Given the description of an element on the screen output the (x, y) to click on. 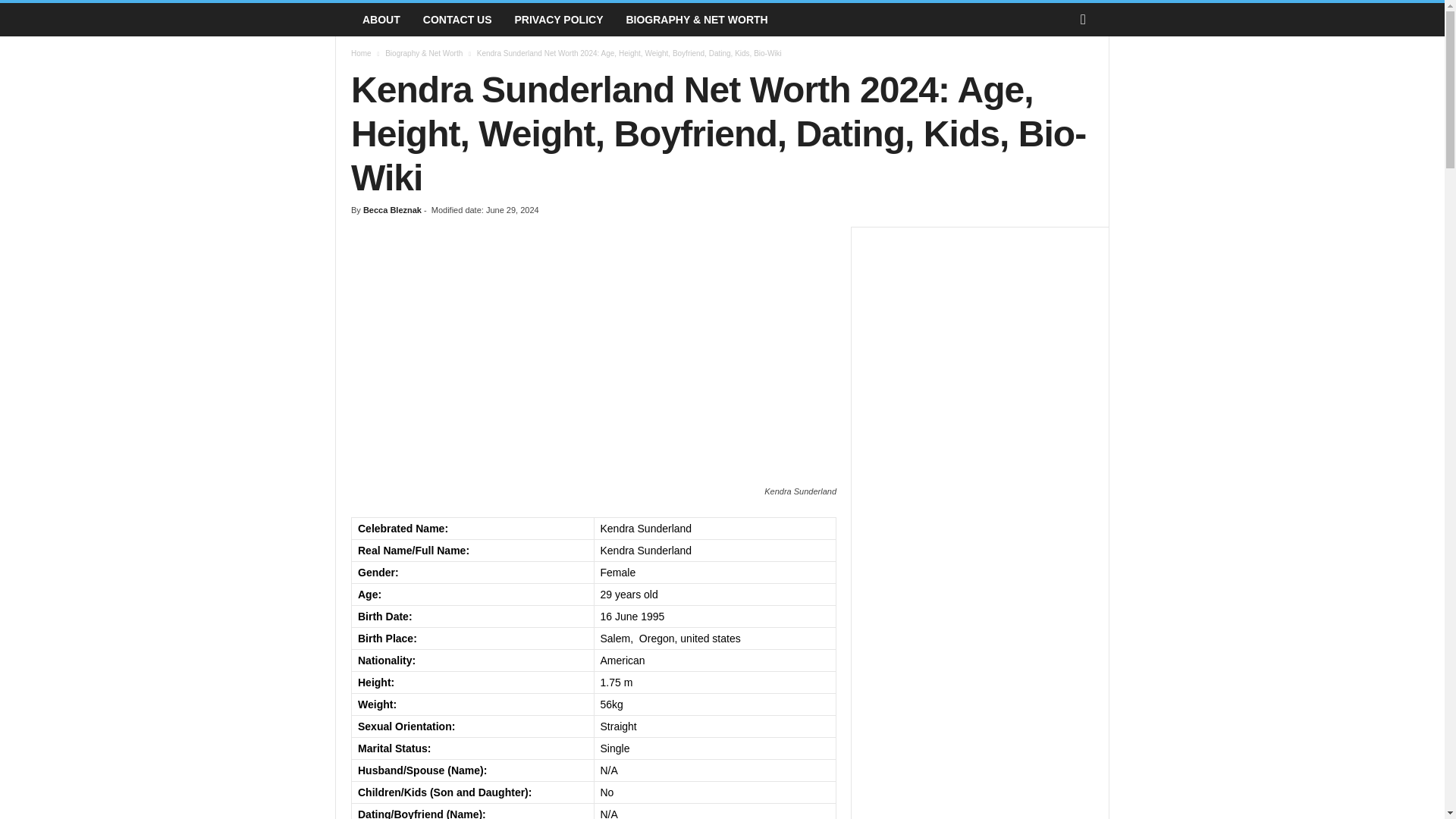
PRIVACY POLICY (558, 19)
Becca Bleznak (392, 209)
Wealthy Persons (342, 19)
Home (360, 53)
CONTACT US (457, 19)
ABOUT (381, 19)
